Given the description of an element on the screen output the (x, y) to click on. 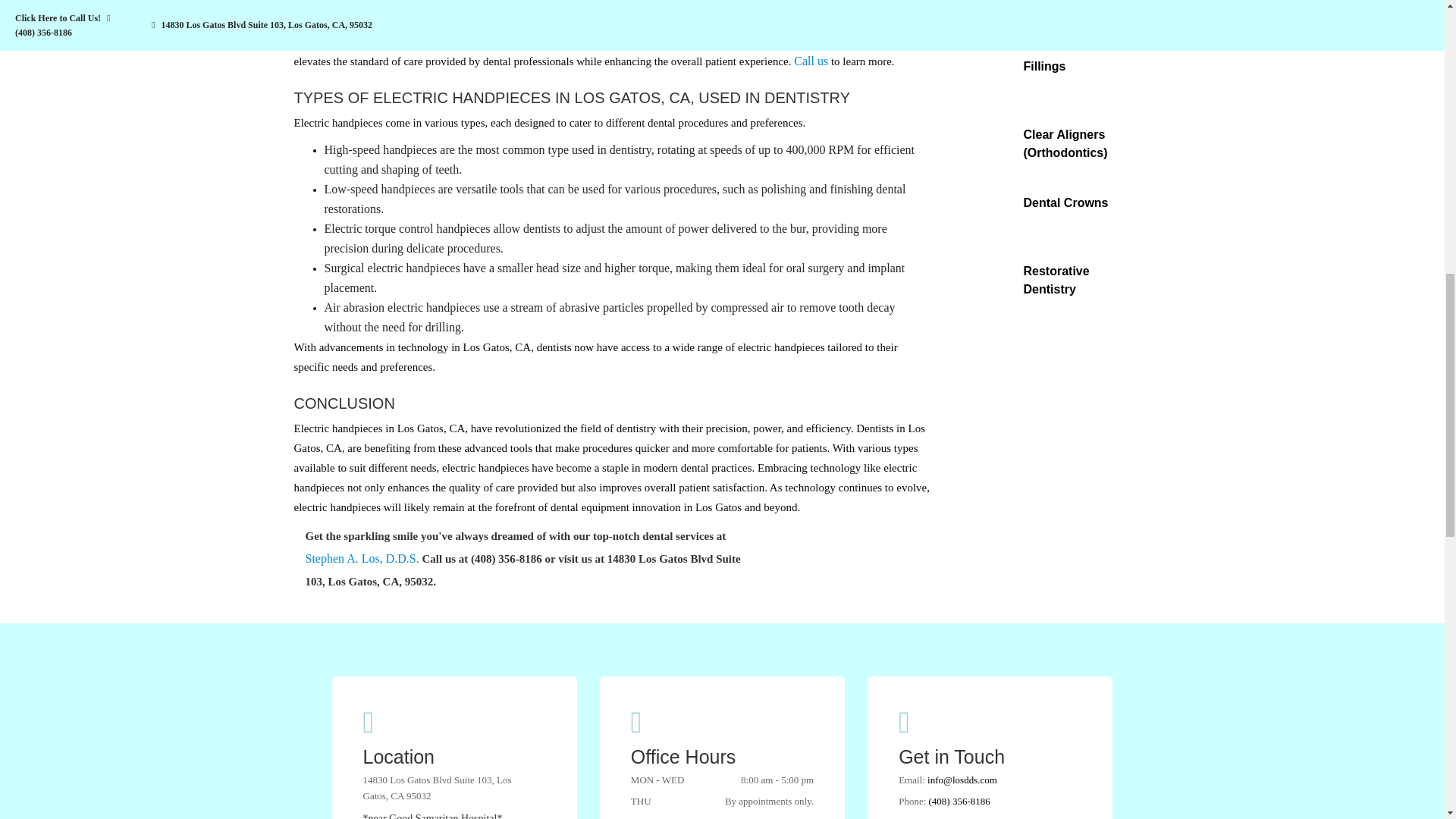
dental fillings in los gatos ca (987, 74)
dental crowns in los gatos ca (987, 211)
dental bridges in los gatos ca (987, 16)
clear aligners in los gatos ca (987, 143)
Restorative Dentistry in Los Gatos CA. (987, 279)
